Given the description of an element on the screen output the (x, y) to click on. 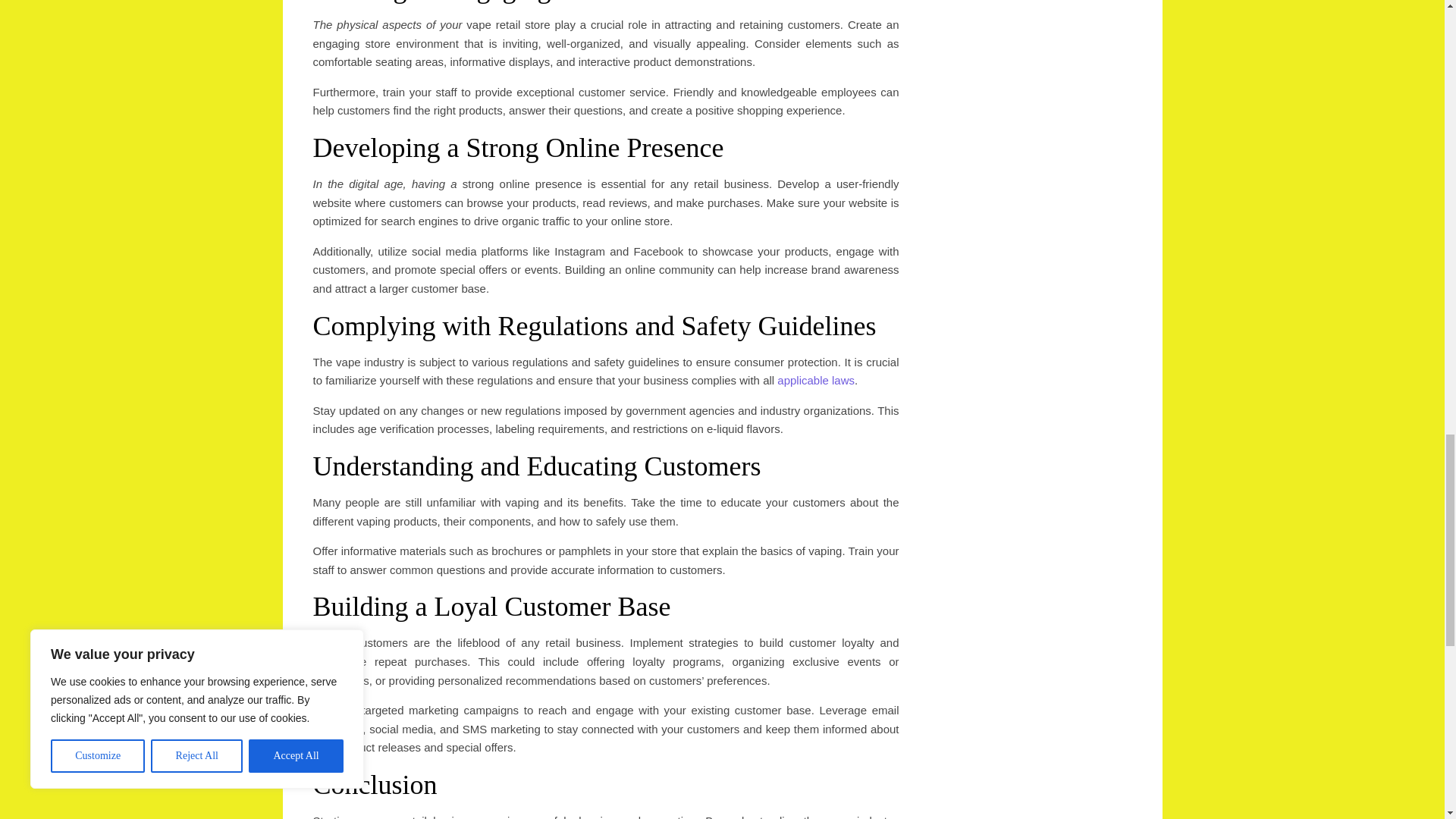
applicable laws (815, 379)
